Given the description of an element on the screen output the (x, y) to click on. 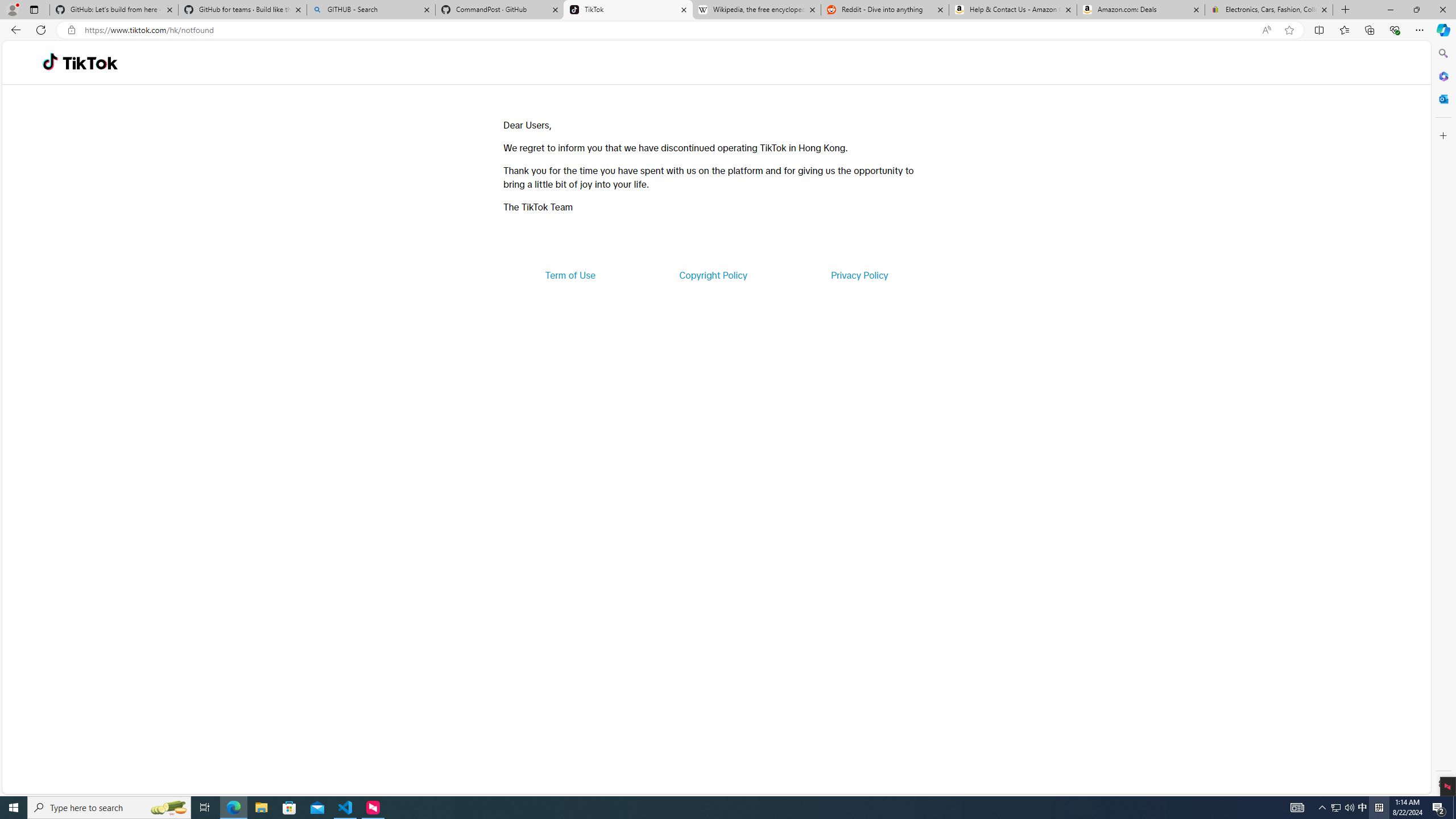
Amazon.com: Deals (1140, 9)
TikTok (89, 62)
